Given the description of an element on the screen output the (x, y) to click on. 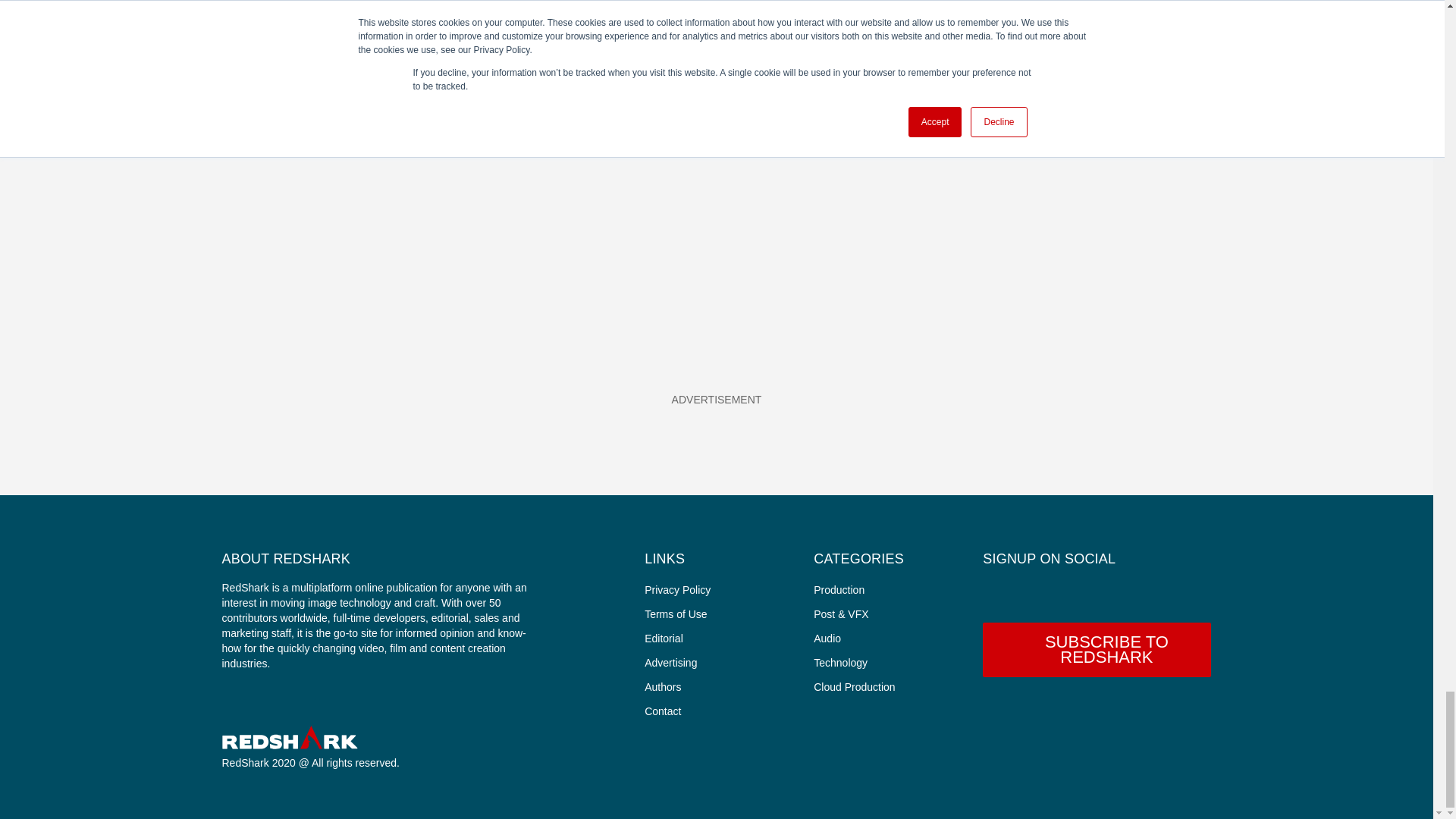
Submit Comment (412, 139)
Submit Comment (412, 139)
